Given the description of an element on the screen output the (x, y) to click on. 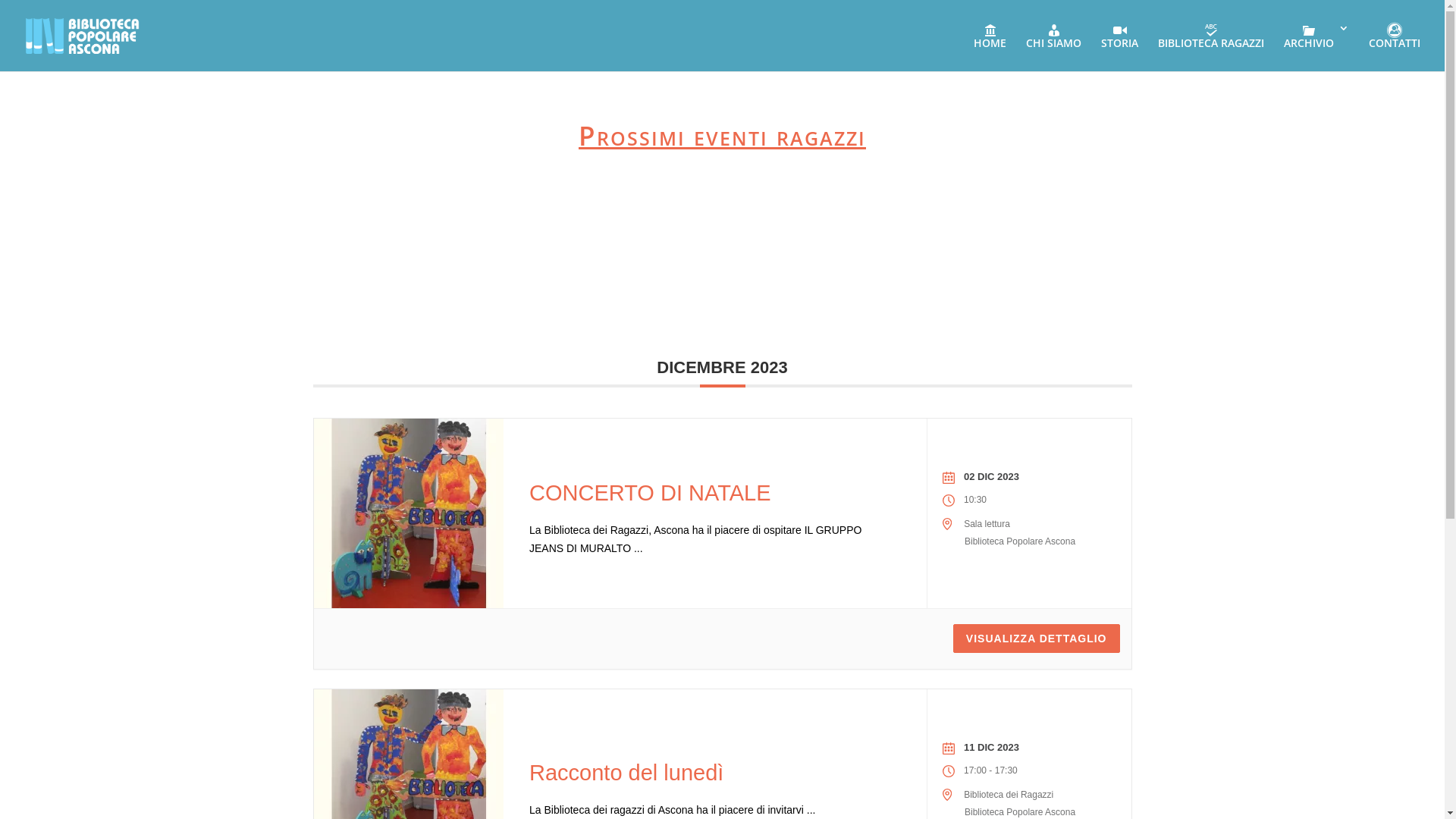
BIBLIOTECA RAGAZZI Element type: text (1210, 46)
ARCHIVIO Element type: text (1316, 46)
CONTATTI Element type: text (1394, 46)
VISUALIZZA DETTAGLIO Element type: text (1036, 638)
STORIA Element type: text (1119, 46)
CHI SIAMO Element type: text (1053, 46)
HOME Element type: text (989, 46)
CONCERTO DI NATALE Element type: text (650, 492)
